Given the description of an element on the screen output the (x, y) to click on. 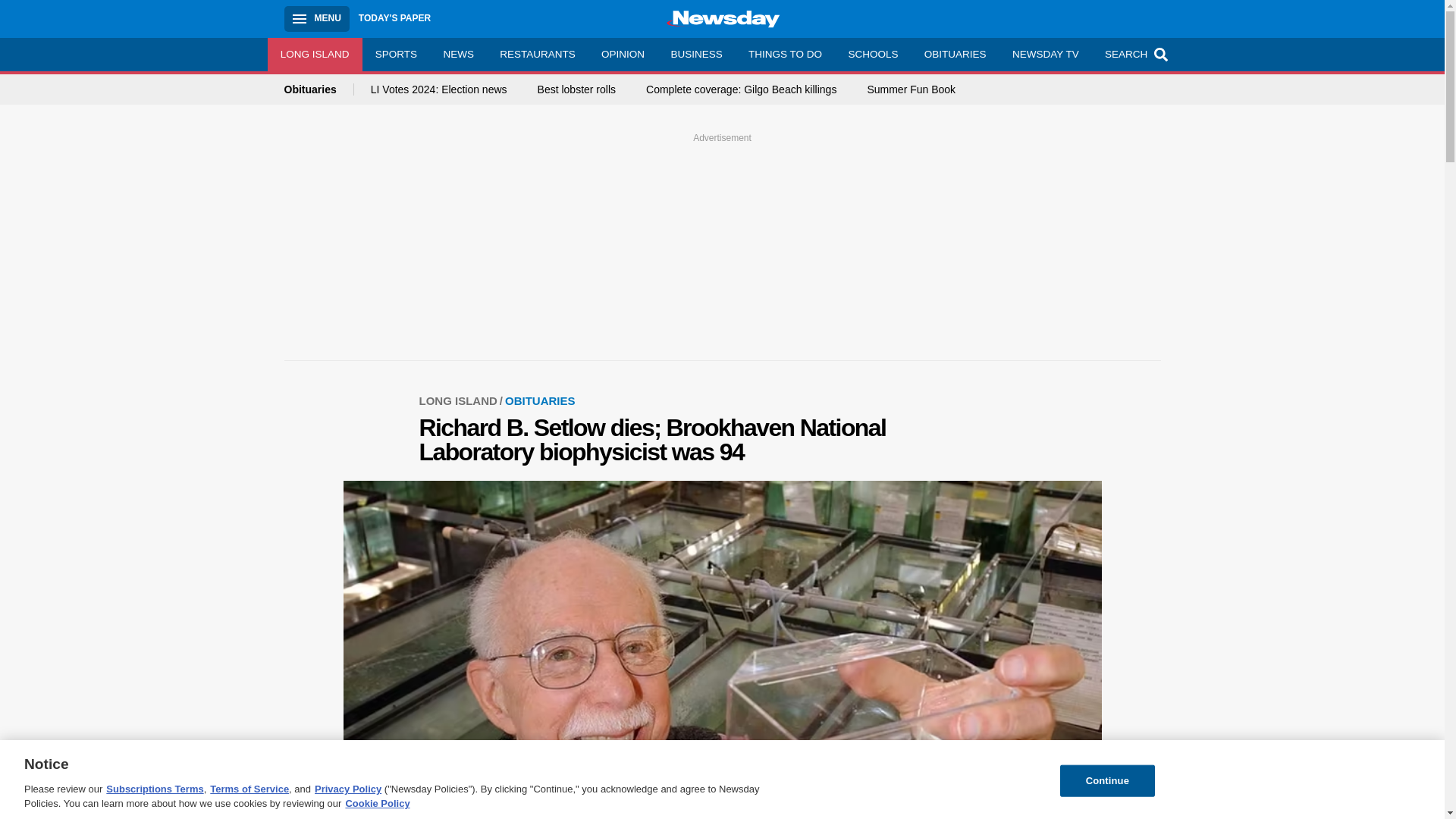
OBITUARIES (954, 54)
Obituaries (318, 89)
LI Votes 2024: Election news (438, 89)
Complete coverage: Gilgo Beach killings (740, 89)
NEWS (457, 54)
MENU (316, 18)
OBITUARIES (540, 400)
Best lobster rolls (576, 89)
THINGS TO DO (784, 54)
SCHOOLS (872, 54)
TODAY'S PAPER (394, 18)
Summer Fun Book (910, 89)
LONG ISLAND (313, 54)
SEARCH (1134, 54)
